Given the description of an element on the screen output the (x, y) to click on. 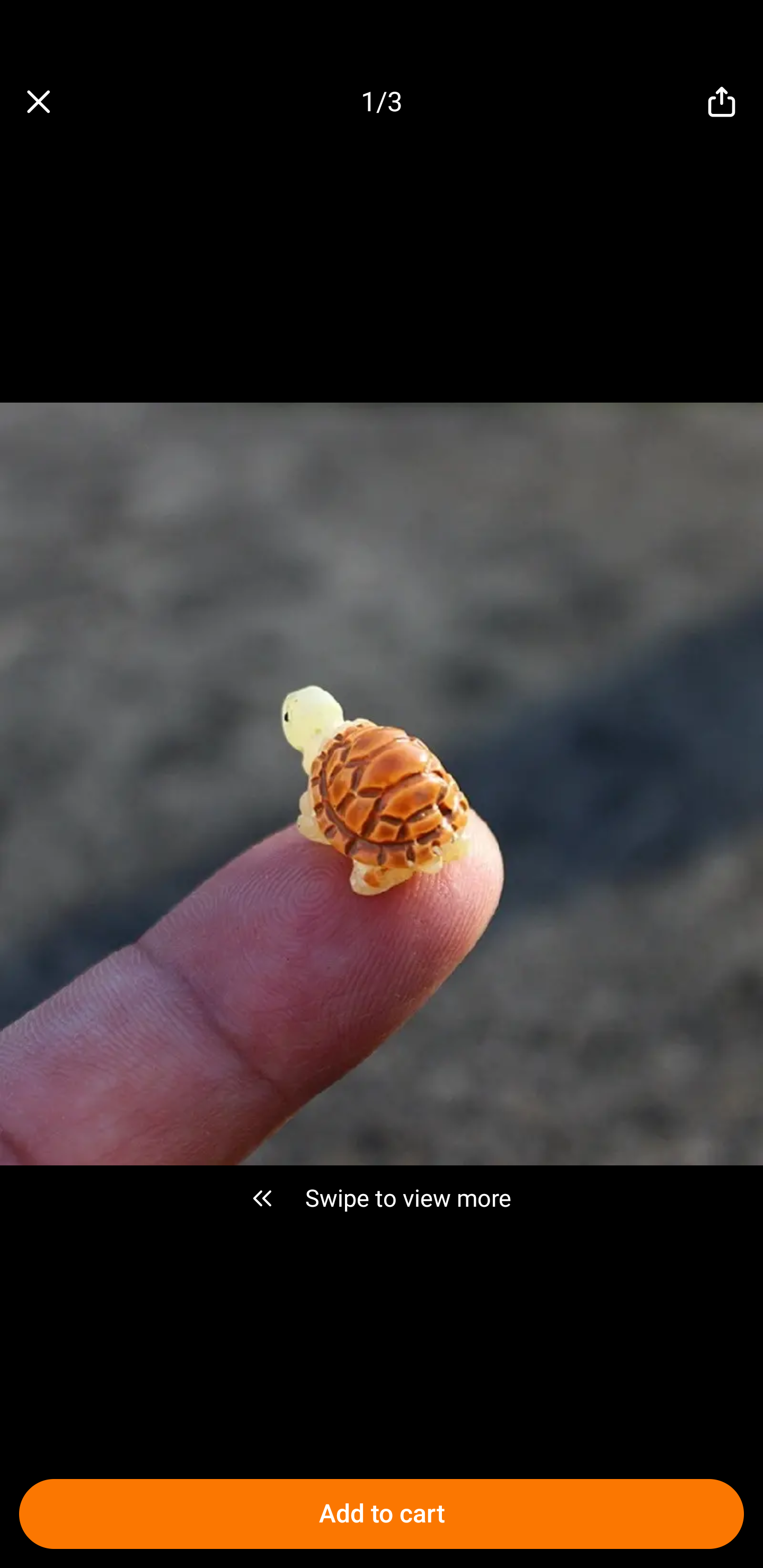
share (721, 101)
Add to cart (381, 1513)
